Given the description of an element on the screen output the (x, y) to click on. 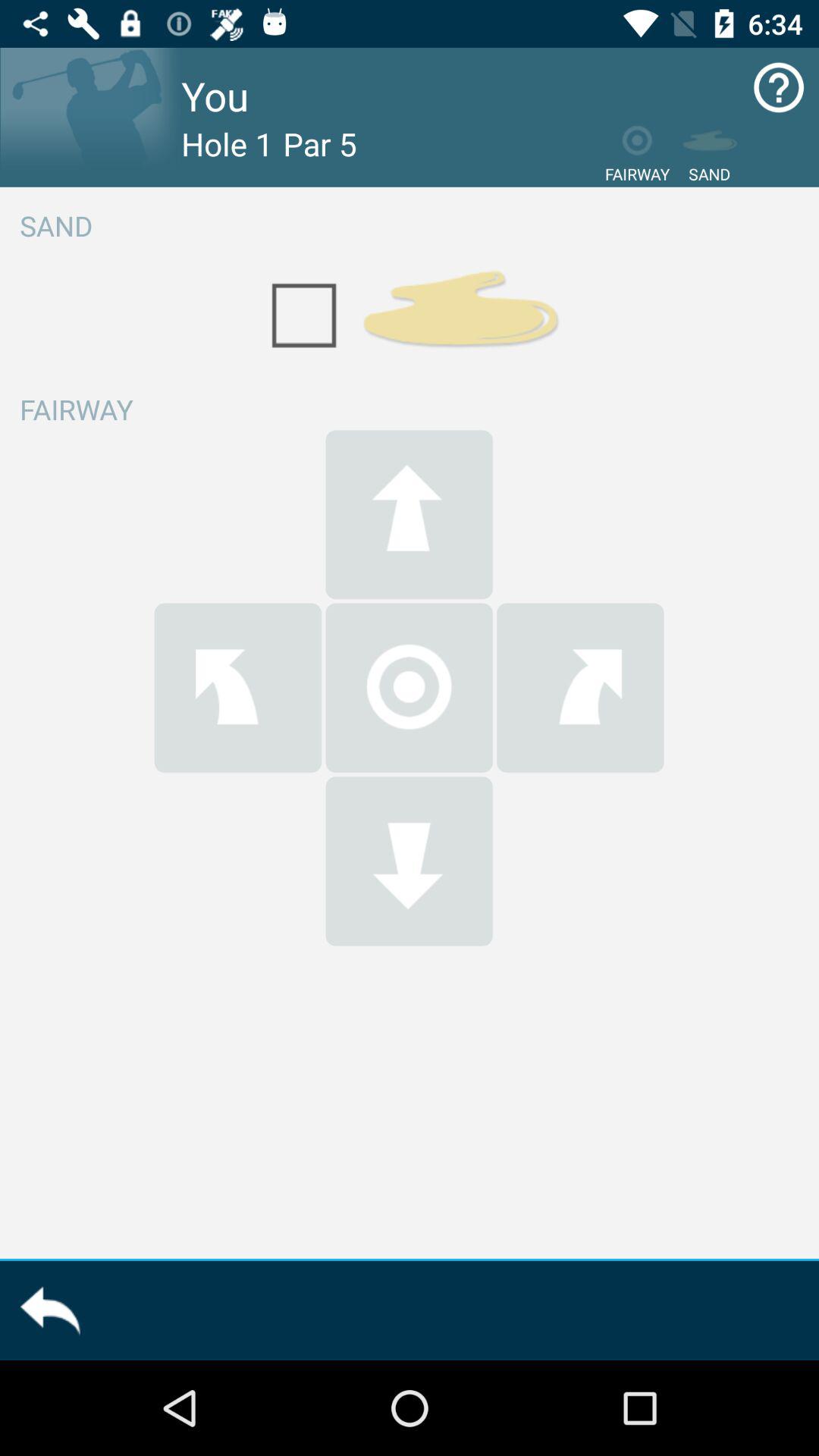
putt left (237, 687)
